Given the description of an element on the screen output the (x, y) to click on. 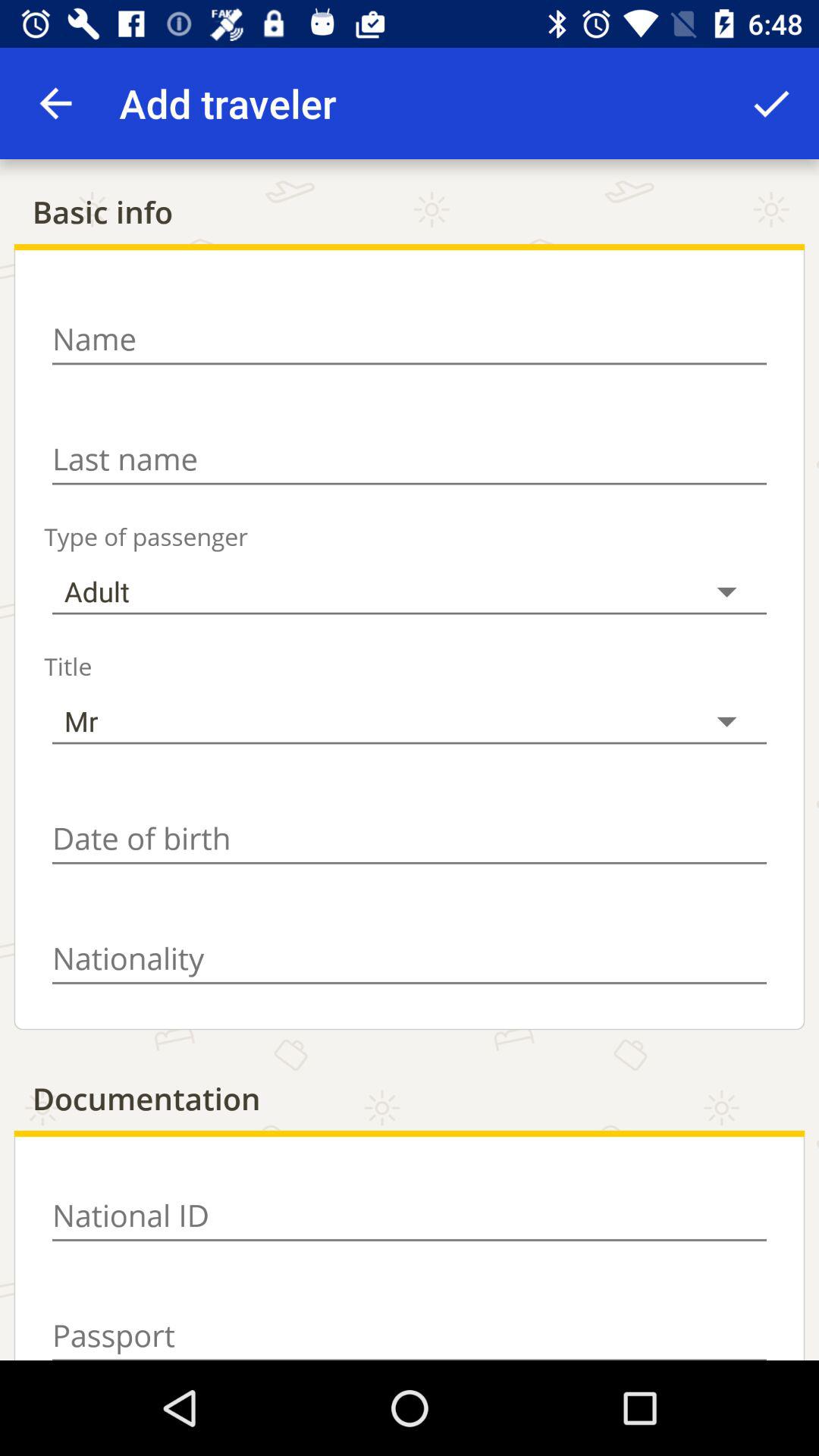
open text box for date of birth (409, 838)
